Given the description of an element on the screen output the (x, y) to click on. 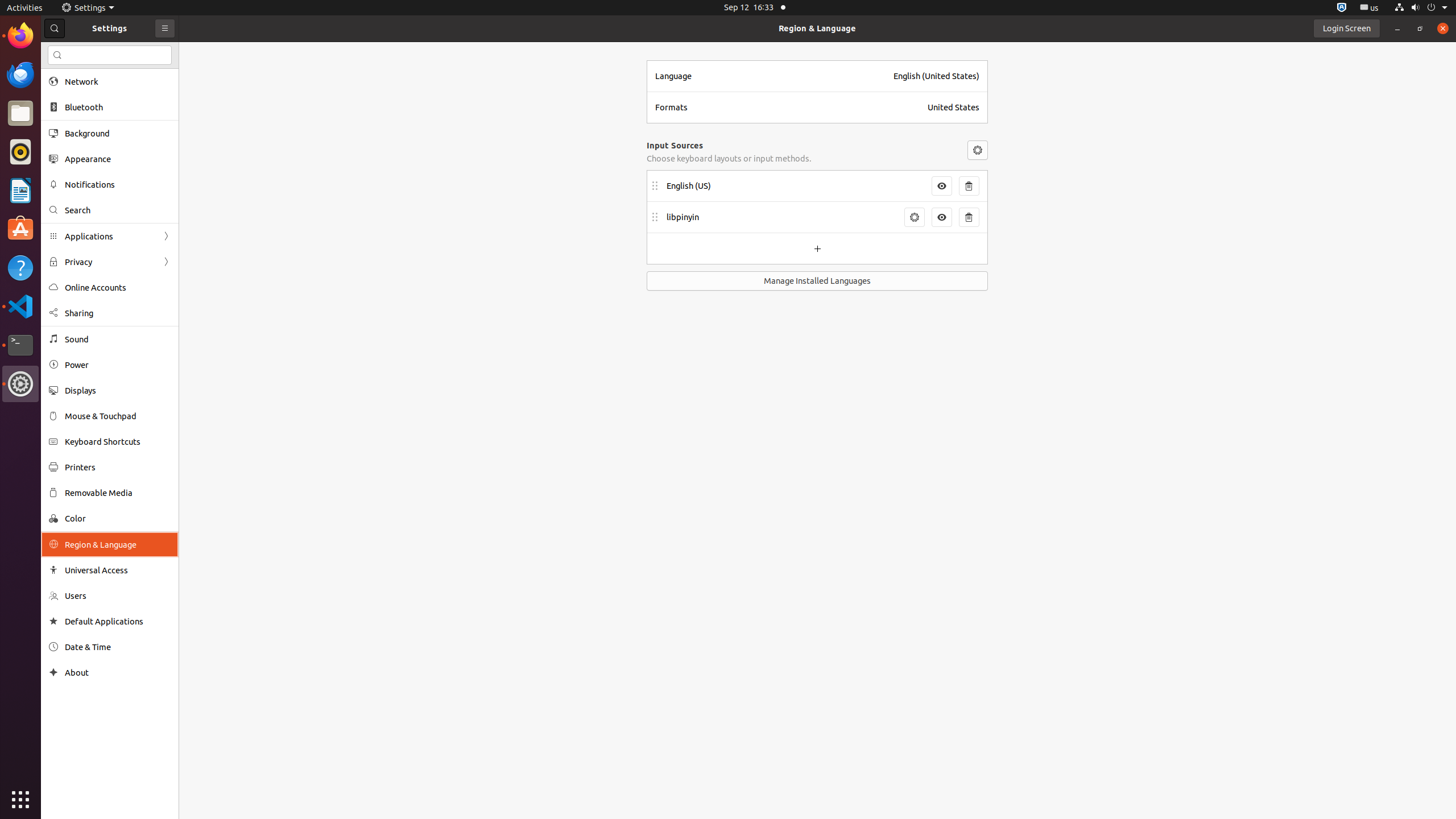
Applications Element type: label (109, 236)
Printers Element type: label (117, 467)
Forward Element type: icon (165, 261)
